Given the description of an element on the screen output the (x, y) to click on. 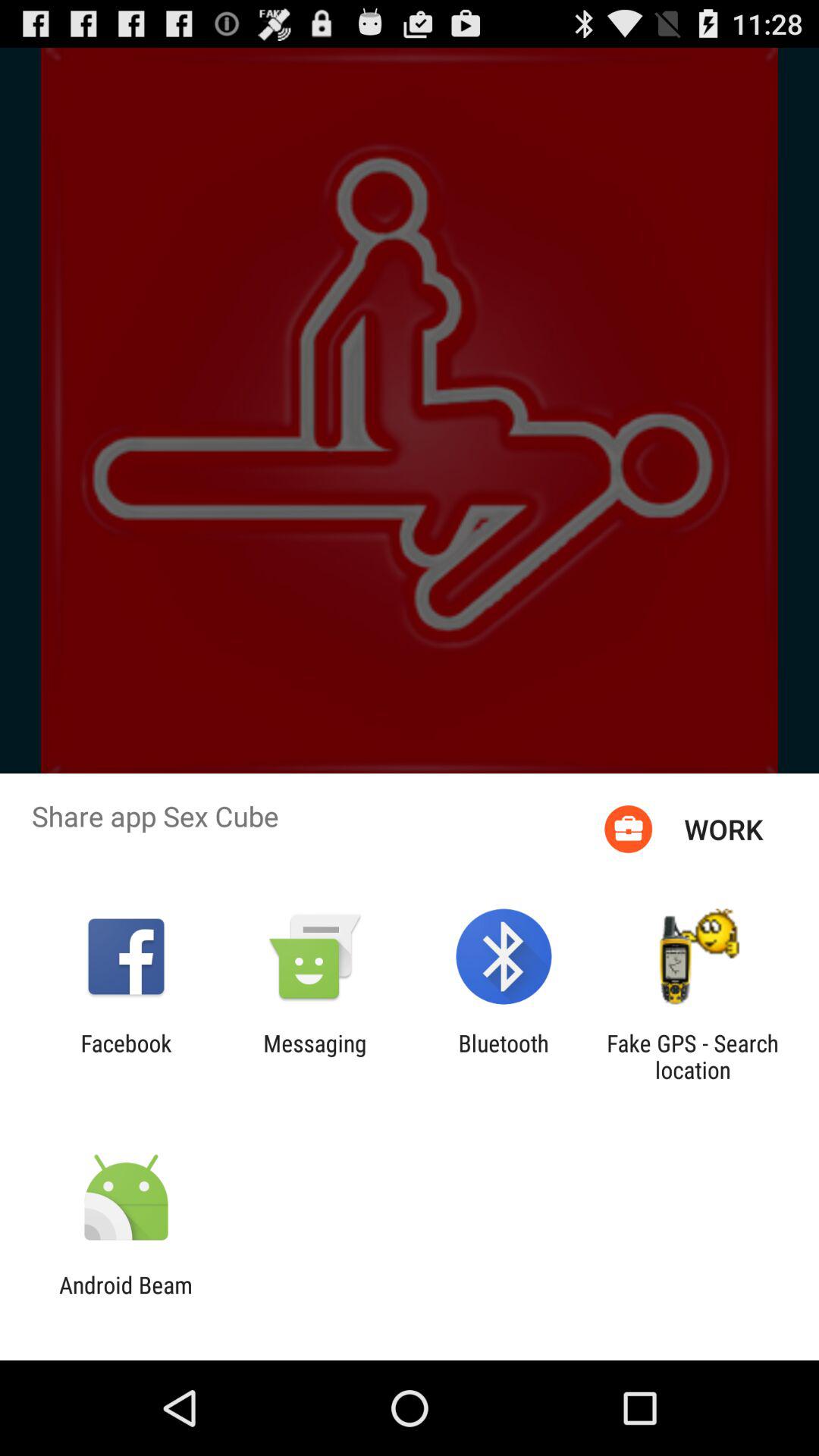
jump to the fake gps search icon (692, 1056)
